Given the description of an element on the screen output the (x, y) to click on. 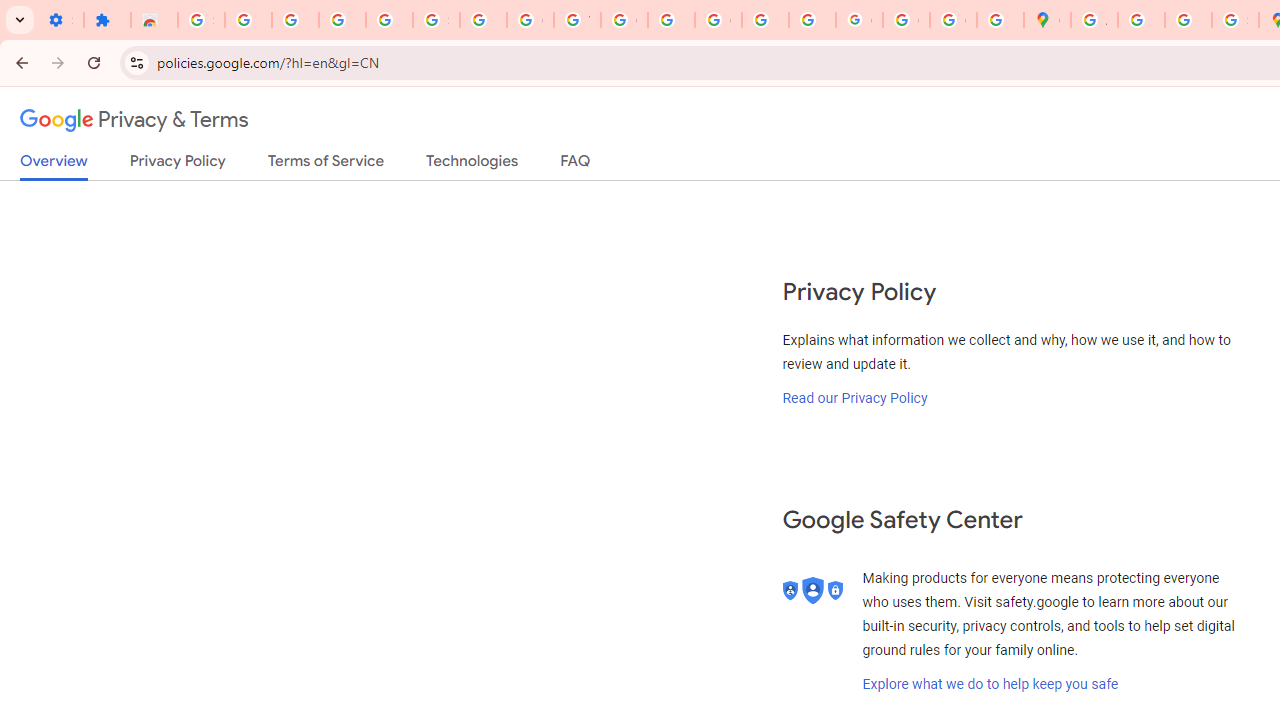
Google Maps (1047, 20)
YouTube (577, 20)
Sign in - Google Accounts (436, 20)
Delete photos & videos - Computer - Google Photos Help (294, 20)
Sign in - Google Accounts (201, 20)
